Given the description of an element on the screen output the (x, y) to click on. 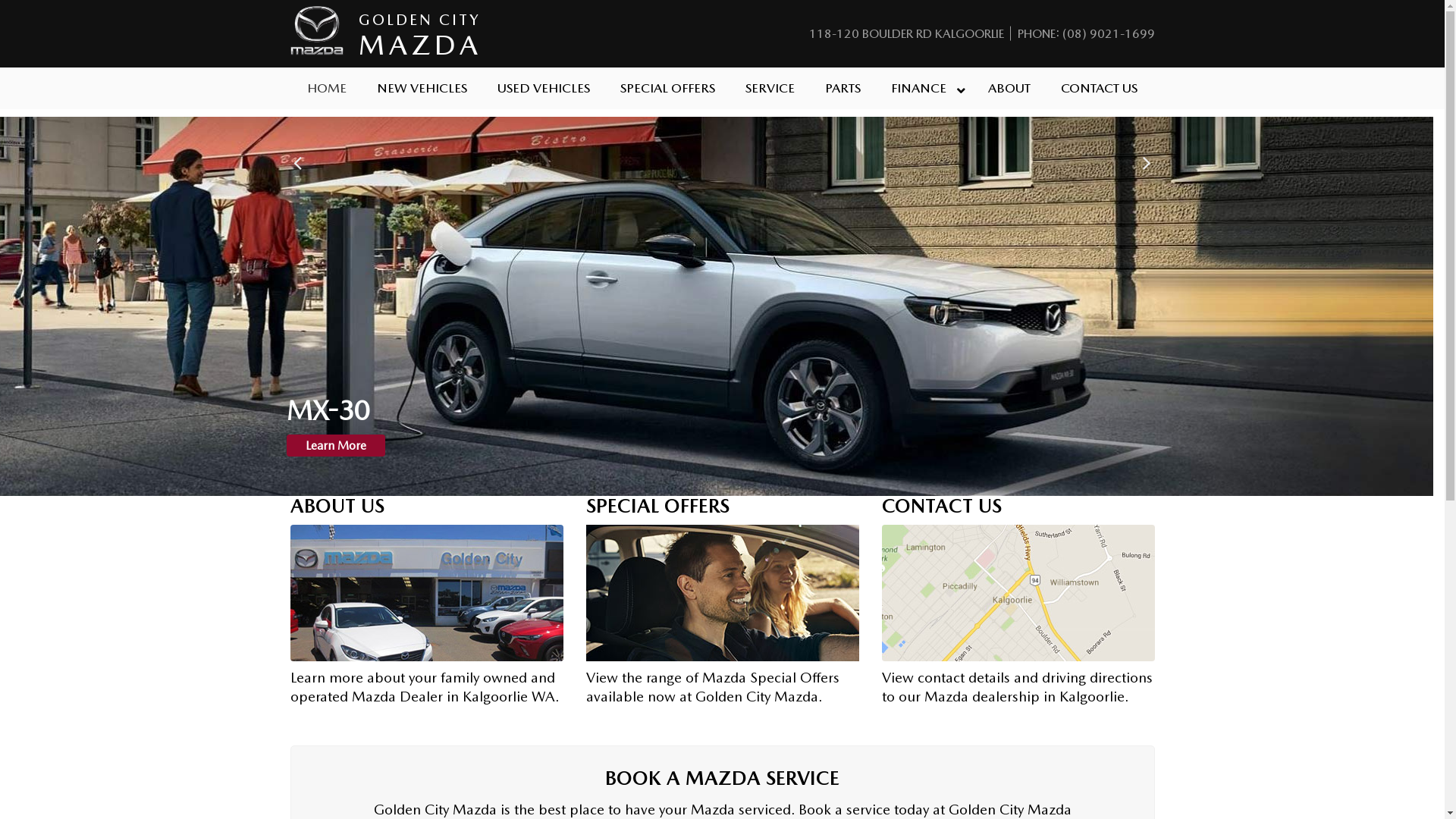
ABOUT Element type: text (1008, 88)
(08) 9021-1699 Element type: text (1107, 32)
NEW VEHICLES Element type: text (421, 88)
PARTS Element type: text (842, 88)
USED VEHICLES Element type: text (543, 88)
SPECIAL OFFERS Element type: text (667, 88)
Learn More Element type: text (335, 445)
CONTACT US Element type: text (1098, 88)
HOME Element type: text (326, 88)
SERVICE Element type: text (769, 88)
FINANCE Element type: text (923, 88)
